Given the description of an element on the screen output the (x, y) to click on. 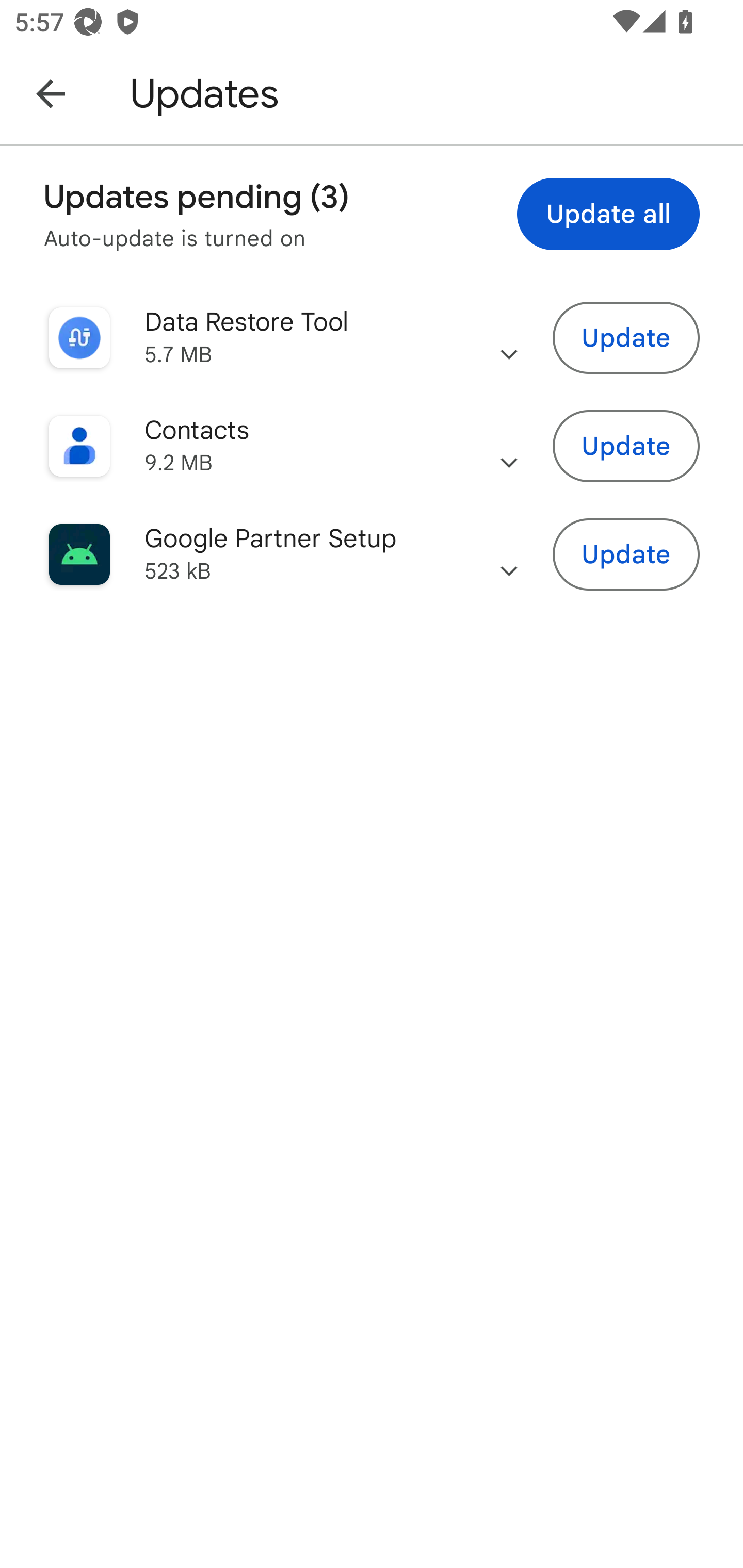
Navigate up (50, 92)
Update all (608, 213)
Changes in the app (508, 337)
Update (625, 337)
Changes in the app (508, 446)
Update (625, 446)
Changes in the app (508, 554)
Update (625, 555)
